Given the description of an element on the screen output the (x, y) to click on. 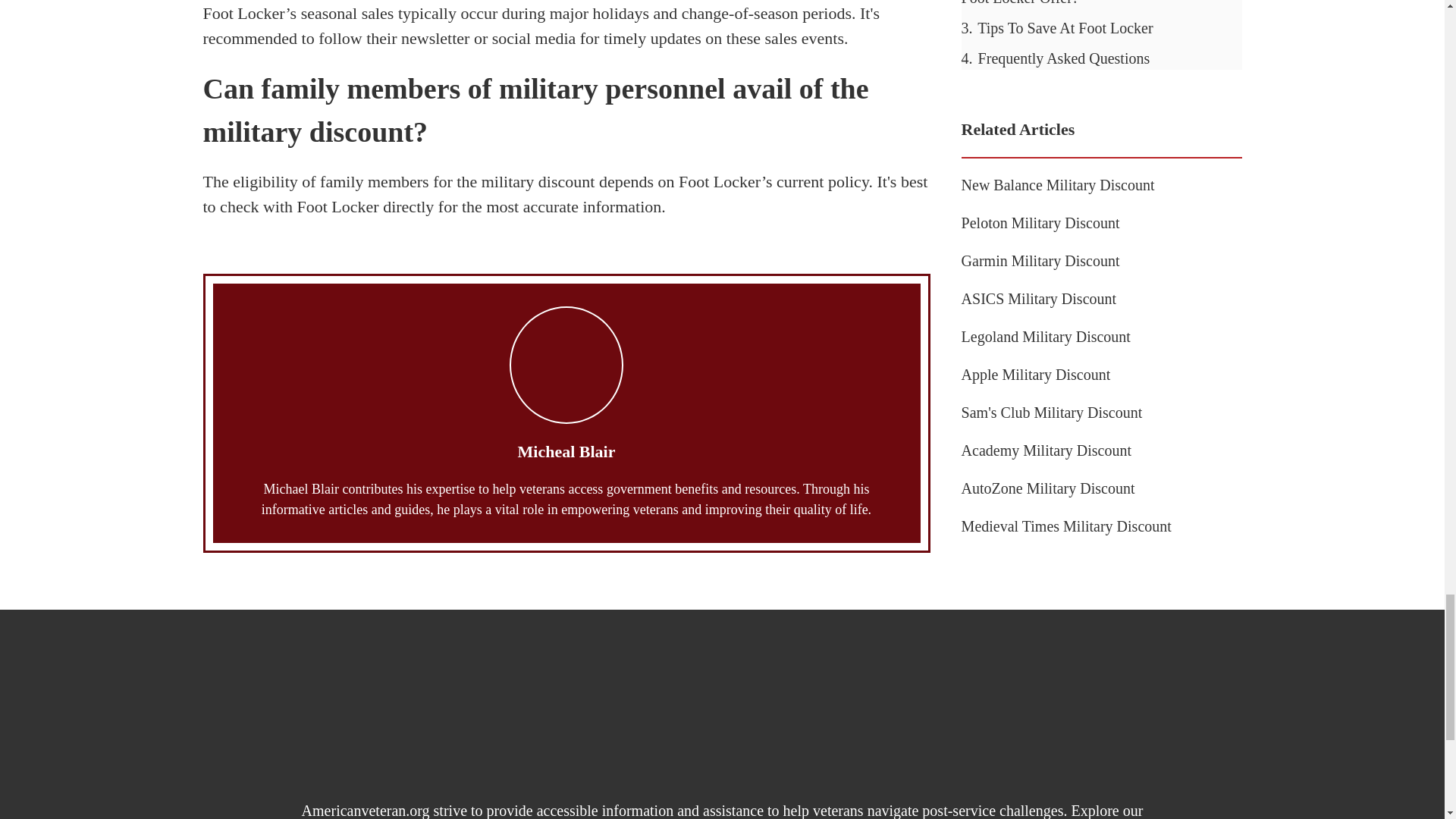
Micheal Blair (566, 451)
